Given the description of an element on the screen output the (x, y) to click on. 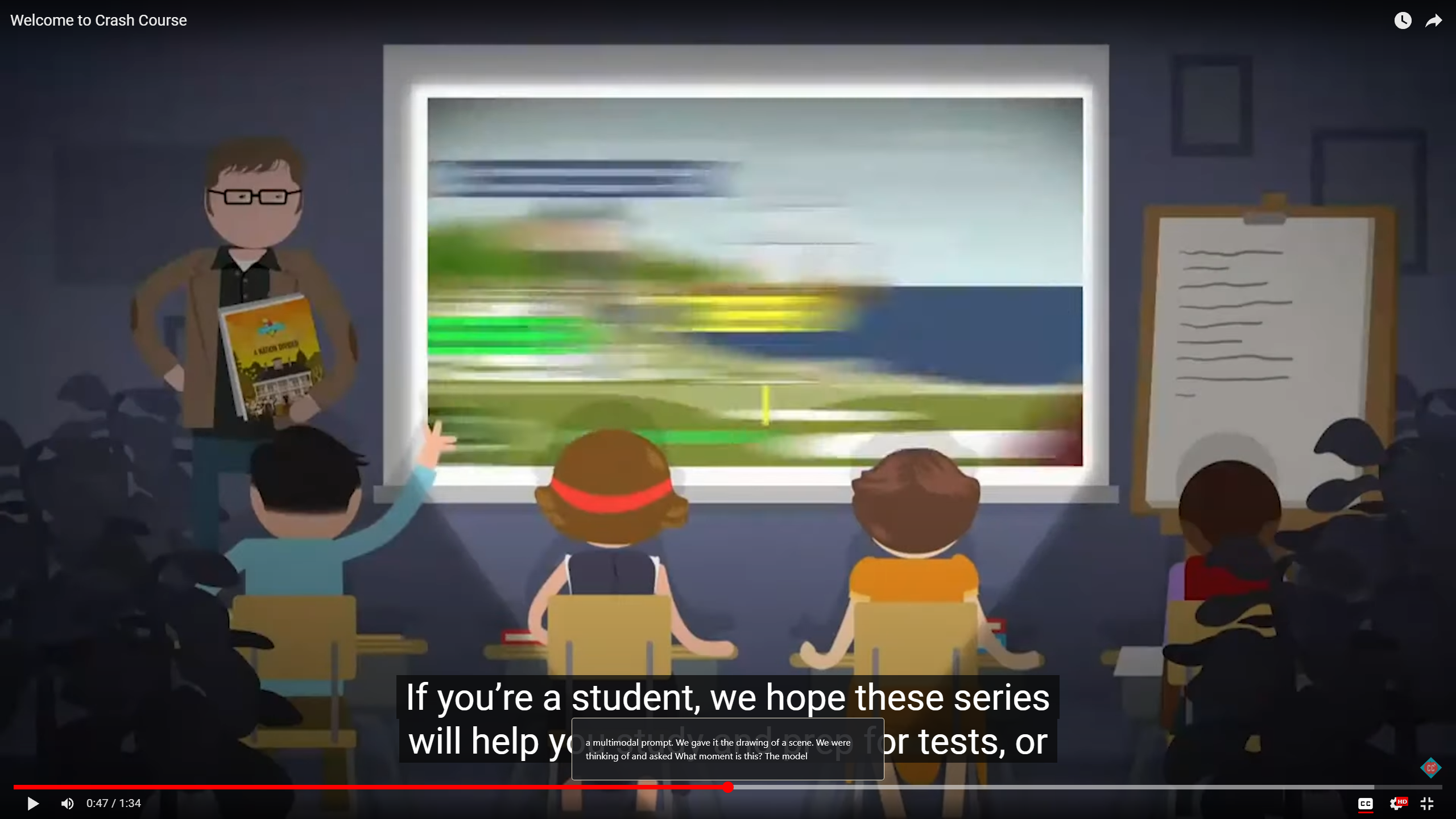
Welcome to Crash Course (698, 20)
Watch later (1402, 18)
Subtitles/closed captions unavailable (1364, 803)
Channel watermark (1430, 767)
Share (1433, 18)
Mute (m) (67, 803)
Channel watermark (1430, 767)
Full screen keyboard shortcut f (1427, 803)
Seek slider (727, 786)
Pause (k) (32, 803)
